Given the description of an element on the screen output the (x, y) to click on. 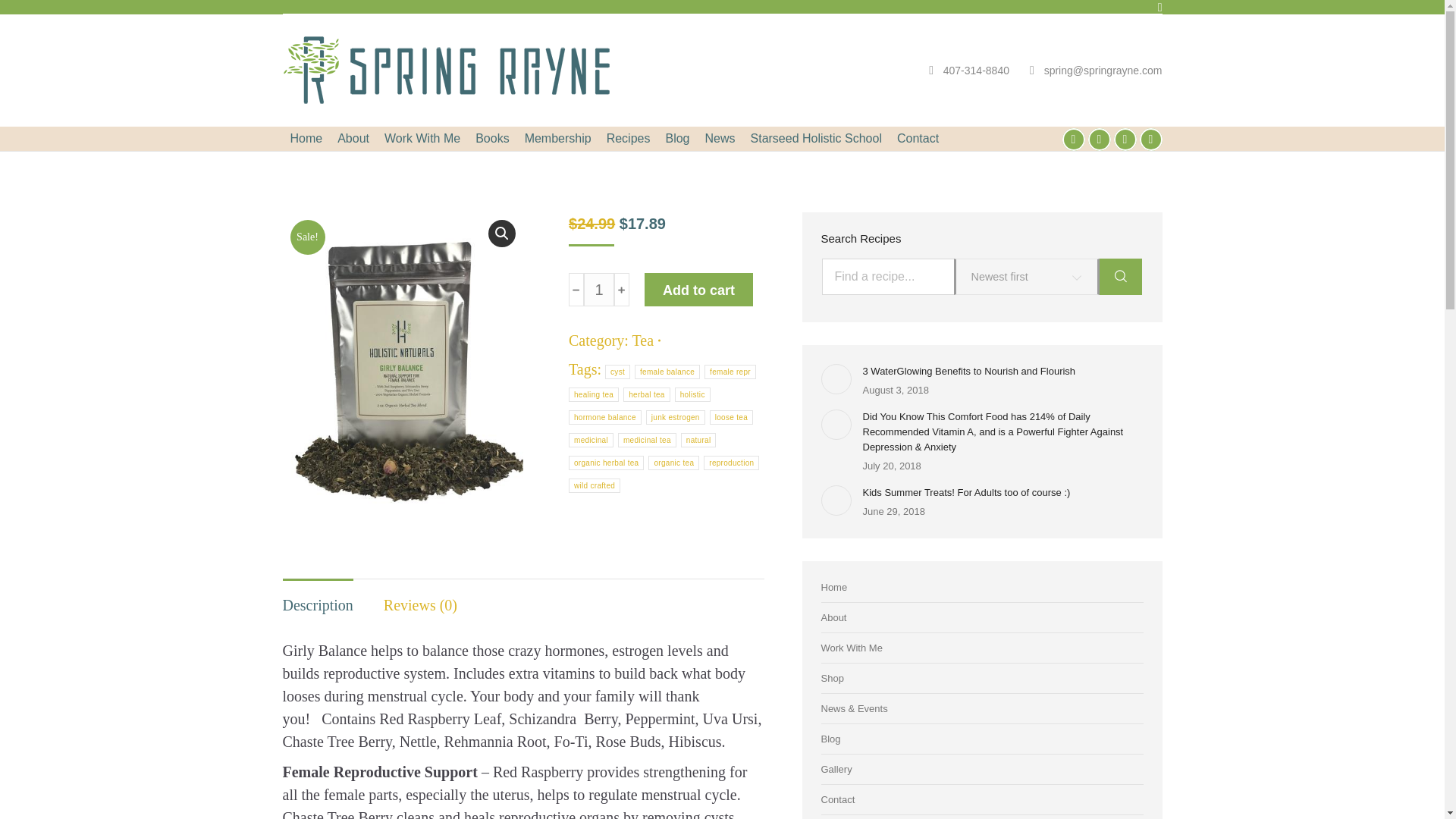
Pinterest page opens in new window (1149, 138)
Recipes (628, 138)
Instagram page opens in new window (1098, 138)
Facebook page opens in new window (1072, 138)
Twitter page opens in new window (1124, 138)
News (719, 138)
Contact (917, 138)
Facebook page opens in new window (1072, 138)
Instagram page opens in new window (1098, 138)
Work With Me (422, 138)
